Given the description of an element on the screen output the (x, y) to click on. 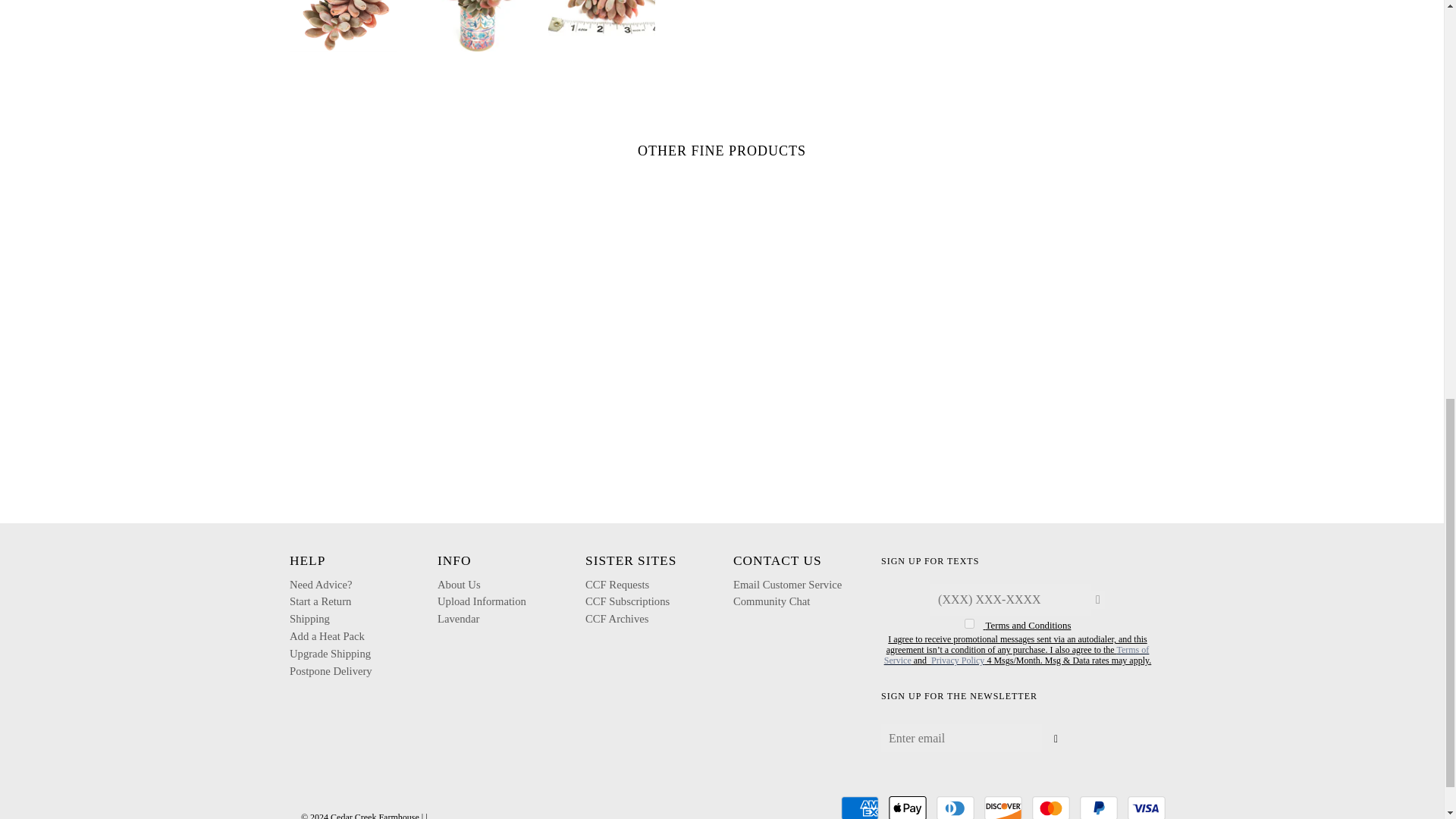
Echeveria Sugared Jelly, Cluster (472, 25)
on (968, 623)
Echeveria Sugared Jelly, Cluster (342, 25)
Echeveria Sugared Jelly, Cluster (601, 25)
